Given the description of an element on the screen output the (x, y) to click on. 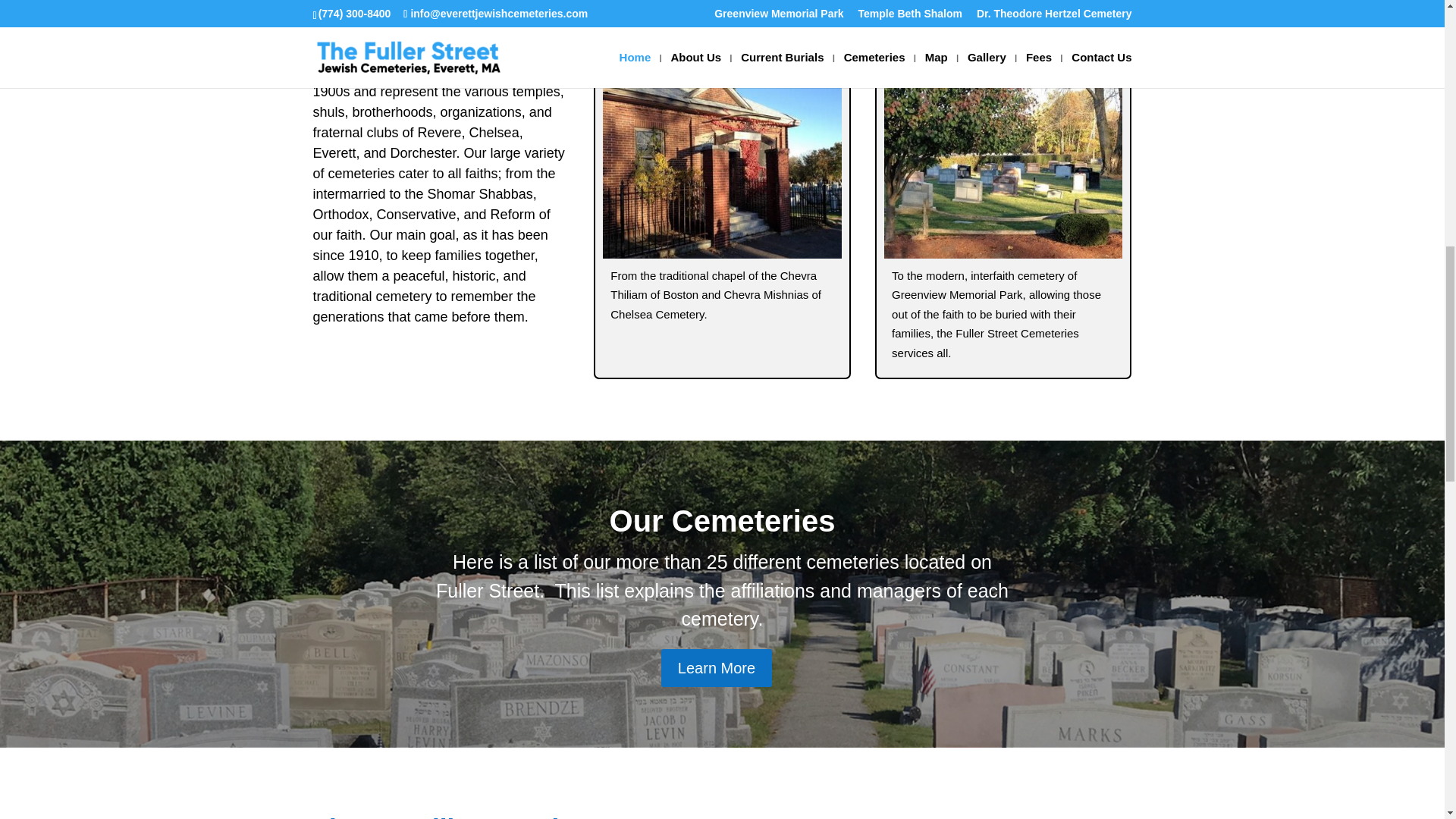
Learn More (716, 668)
2d8f0af28a953048f0cbbc066ceb5278 (721, 164)
88f908898c908abeb2d6521ed5c6059f (1002, 164)
